Given the description of an element on the screen output the (x, y) to click on. 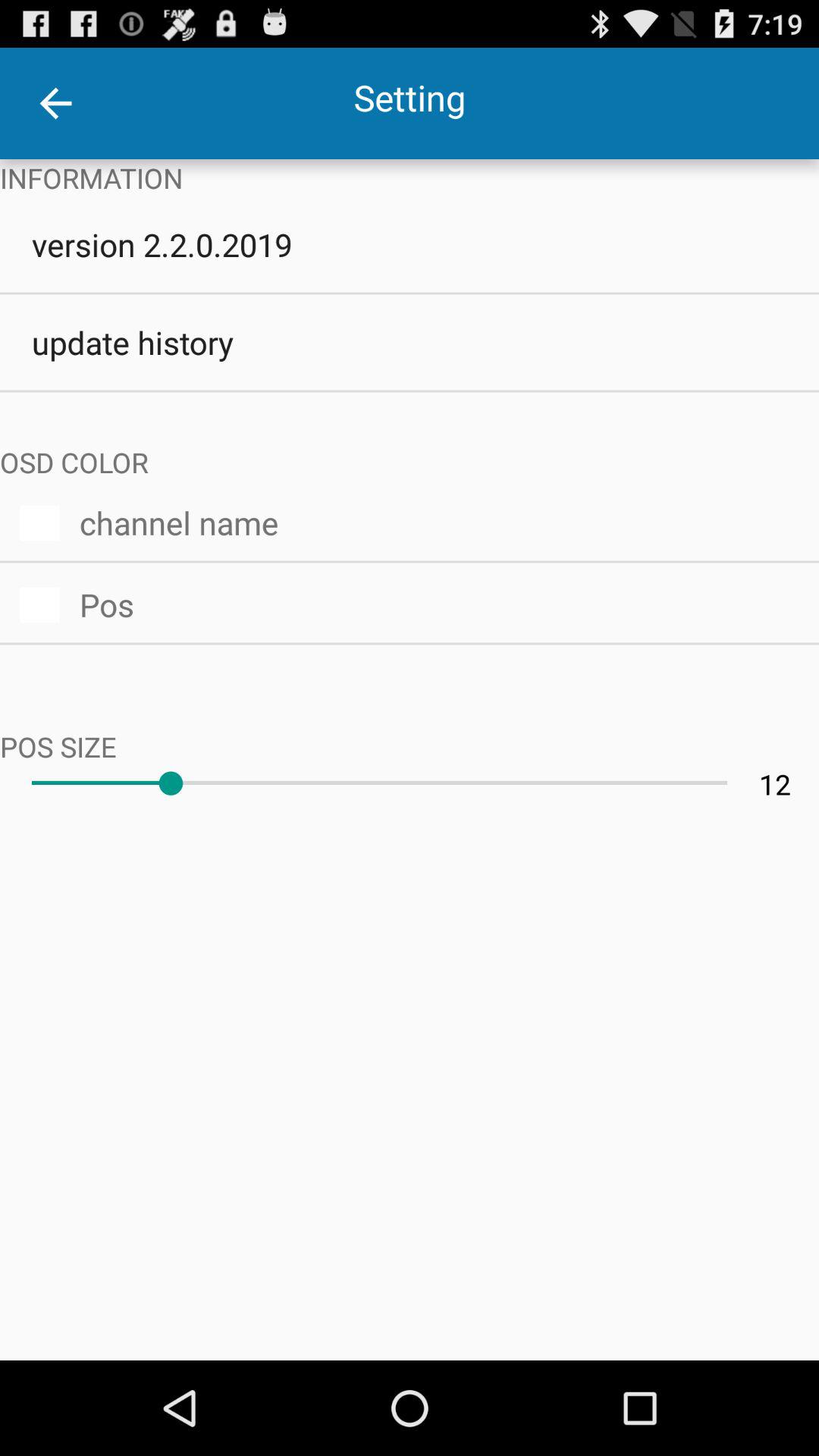
select the channel name item (439, 520)
